Given the description of an element on the screen output the (x, y) to click on. 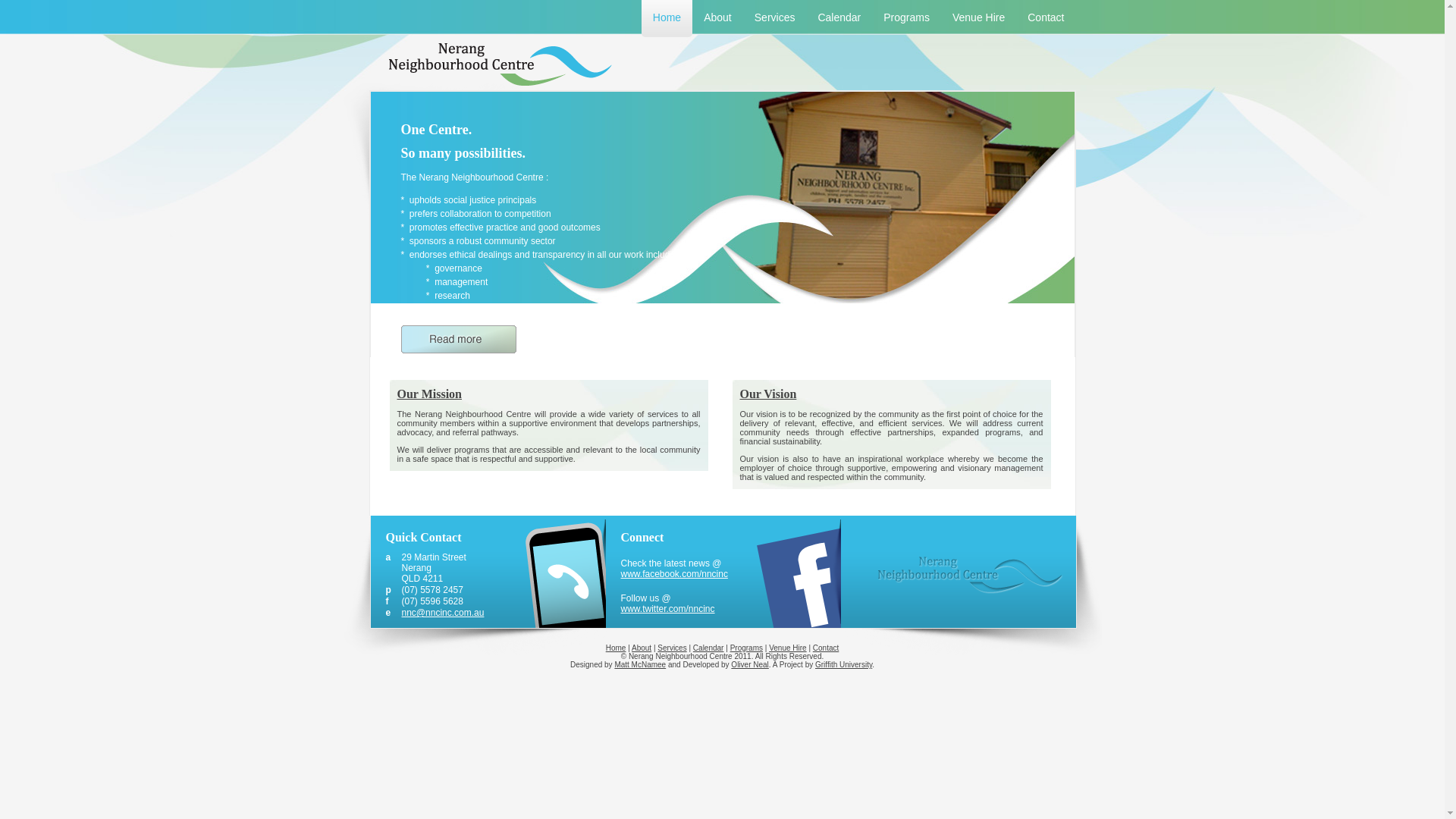
Oliver Neal Element type: text (749, 664)
www.twitter.com/nncinc Element type: text (667, 608)
Matt McNamee Element type: text (639, 664)
Venue Hire Element type: text (787, 647)
Griffith University Element type: text (843, 664)
Contact Element type: text (825, 647)
Nerang Neighbourhood Centre Element type: text (492, 63)
Programs Element type: text (906, 18)
Calendar Element type: text (708, 647)
Nerang Neighbourhood Centre Element type: text (970, 574)
Venue Hire Element type: text (978, 18)
Home Element type: text (666, 18)
Home Element type: text (615, 647)
Services Element type: text (774, 18)
Services Element type: text (671, 647)
Contact Element type: text (1045, 18)
About Element type: text (641, 647)
Calendar Element type: text (839, 18)
Programs Element type: text (746, 647)
About Element type: text (717, 18)
Read More Element type: text (457, 341)
nnc@nncinc.com.au Element type: text (442, 612)
www.facebook.com/nncinc Element type: text (673, 573)
